Given the description of an element on the screen output the (x, y) to click on. 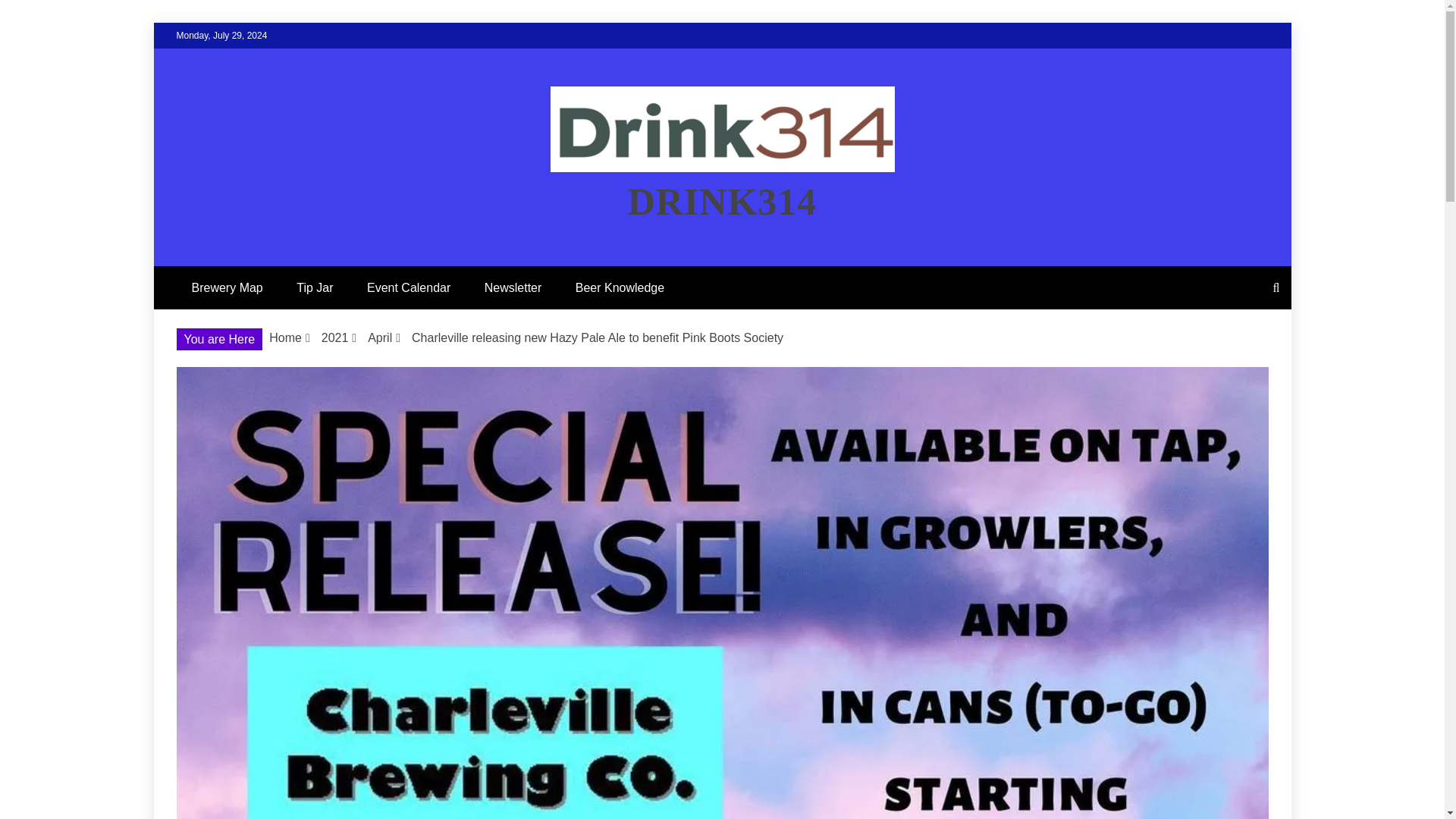
Newsletter (512, 287)
Home (285, 337)
April (379, 337)
Beer Knowledge (619, 287)
Brewery Map (227, 287)
Event Calendar (408, 287)
Tip Jar (314, 287)
DRINK314 (721, 201)
2021 (335, 337)
